Given the description of an element on the screen output the (x, y) to click on. 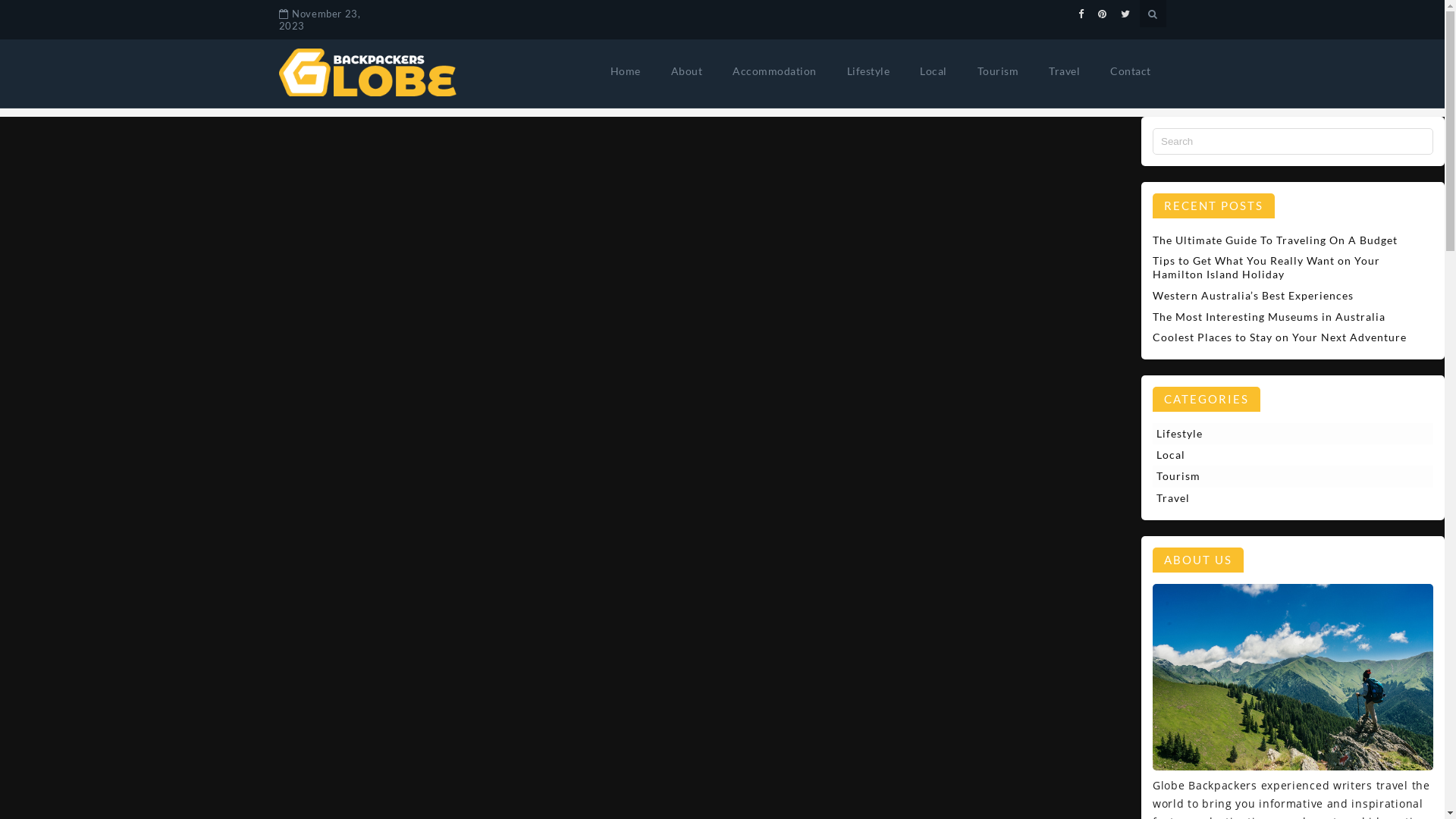
The Ultimate Guide To Traveling On A Budget Element type: text (1274, 239)
Accommodation Element type: text (774, 70)
Local Element type: text (1277, 454)
The Most Interesting Museums in Australia Element type: text (1268, 316)
Coolest Places to Stay on Your Next Adventure Element type: text (1279, 336)
Search Element type: text (37, 13)
Local Element type: text (933, 70)
Contact Element type: text (1130, 70)
Lifestyle Element type: text (867, 70)
Travel Element type: text (1064, 70)
Tourism Element type: text (1277, 476)
Lifestyle Element type: text (1277, 433)
Travel Element type: text (1277, 498)
Tourism Element type: text (997, 70)
About Element type: text (686, 70)
Home Element type: text (624, 70)
